Given the description of an element on the screen output the (x, y) to click on. 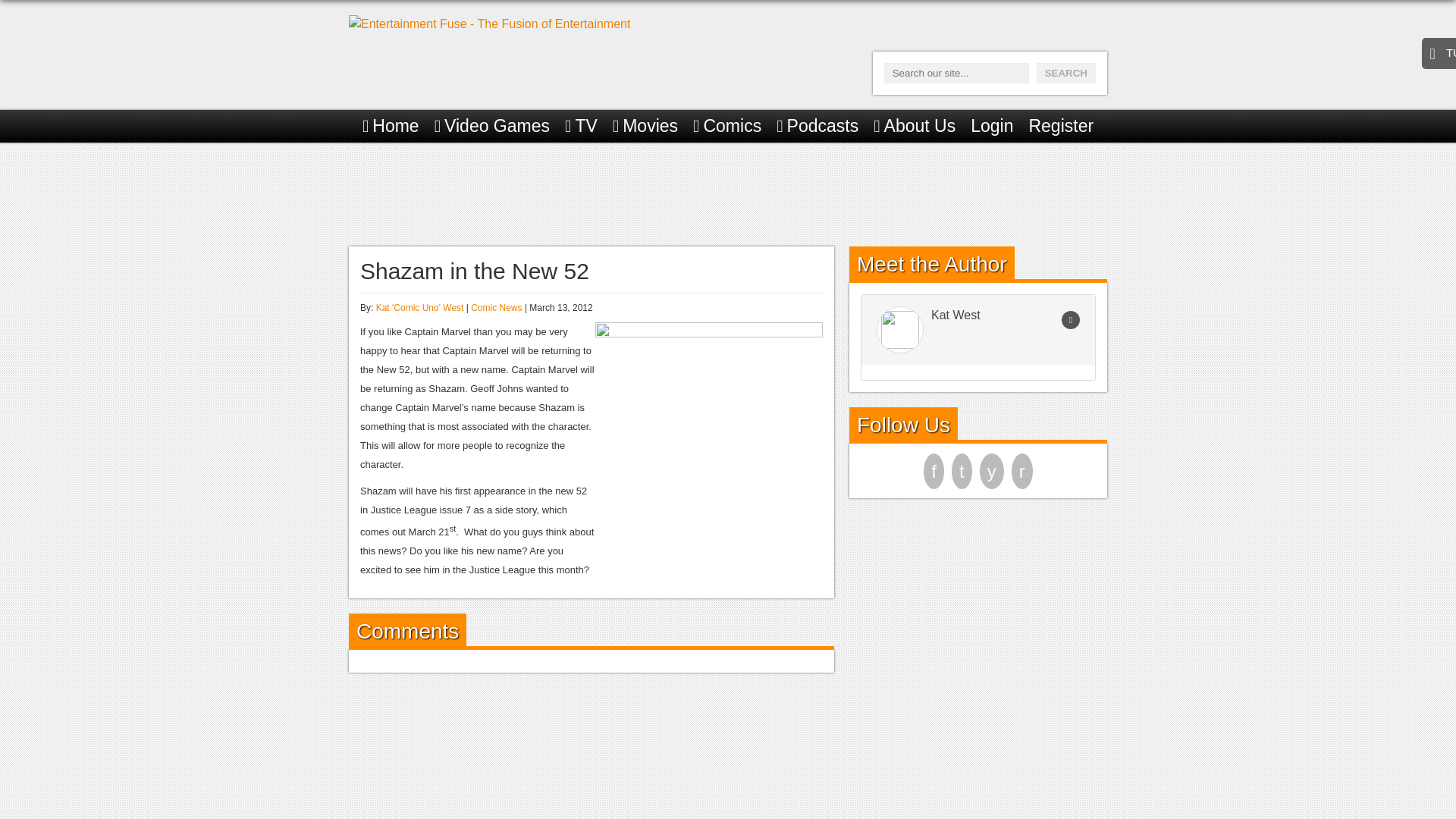
TV (580, 125)
Search (1066, 73)
Video Games (491, 125)
Search (1066, 73)
Comics (727, 125)
Movies (645, 125)
Send E-mail (1070, 320)
Posts by Kat 'Comic Uno' West (419, 307)
Home (390, 125)
